Given the description of an element on the screen output the (x, y) to click on. 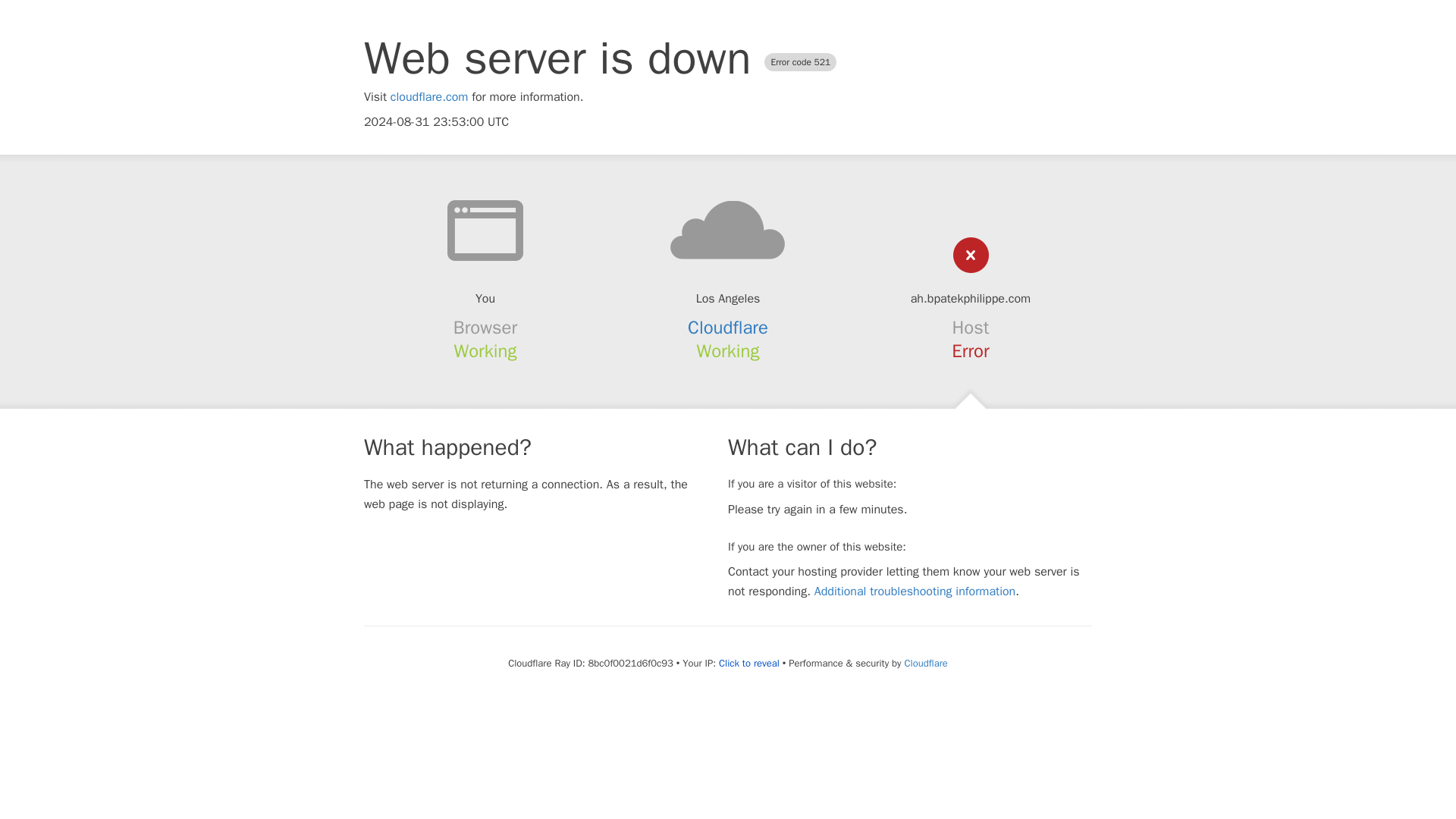
cloudflare.com (429, 96)
Cloudflare (727, 327)
Additional troubleshooting information (913, 590)
Cloudflare (925, 662)
Click to reveal (748, 663)
